Given the description of an element on the screen output the (x, y) to click on. 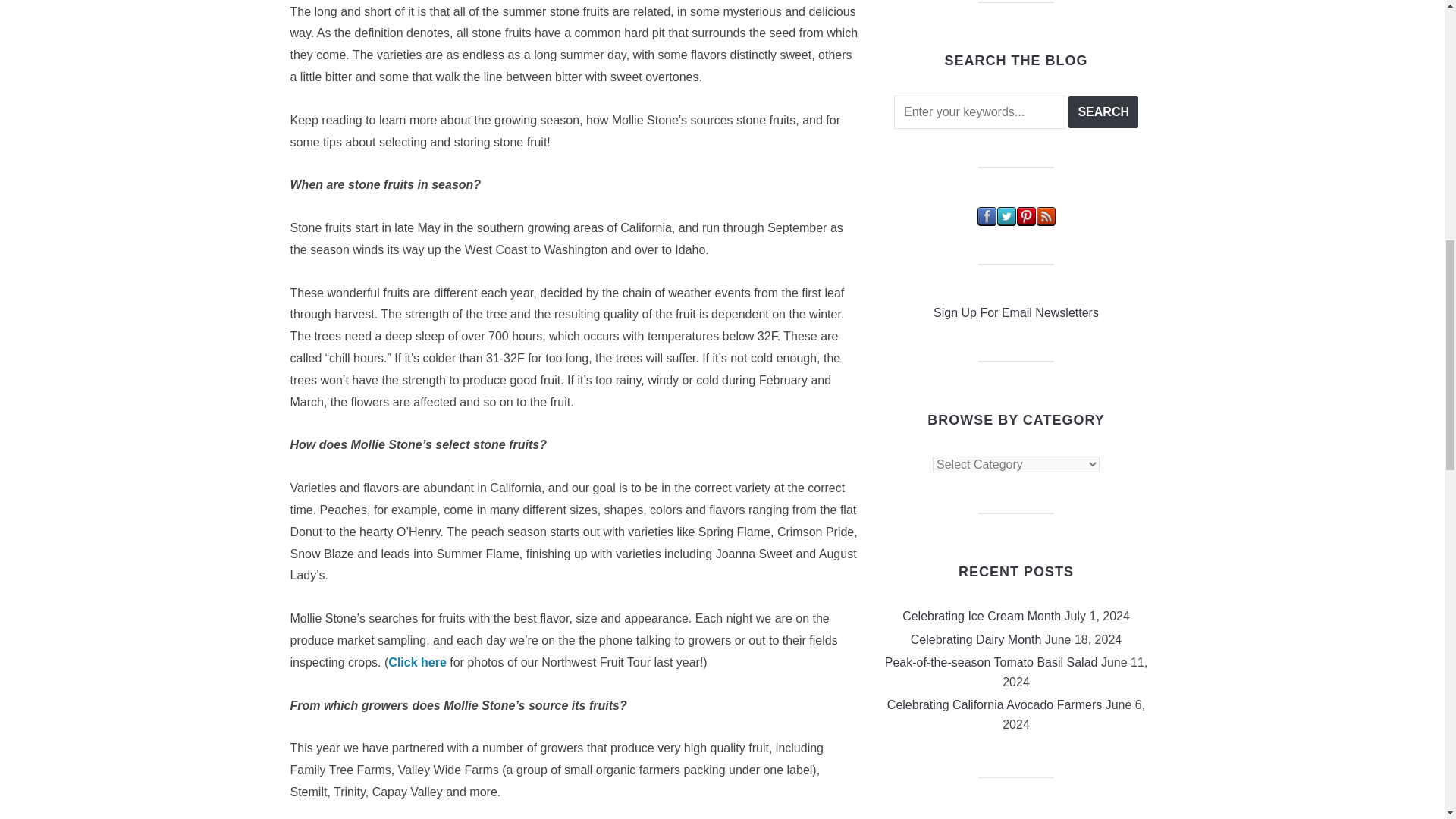
Peak-of-the-season Tomato Basil Salad (991, 662)
Sign Up For Email Newsletters (1016, 312)
Click here (416, 662)
Search (1103, 111)
Search (1103, 111)
Visit Us On Twitter (1005, 215)
Visit Us On Pinterest (1025, 215)
Celebrating Ice Cream Month (981, 615)
Celebrating Dairy Month (976, 639)
Check Our Feed (1045, 215)
Search (1103, 111)
Visit Us On Facebook (985, 215)
